Given the description of an element on the screen output the (x, y) to click on. 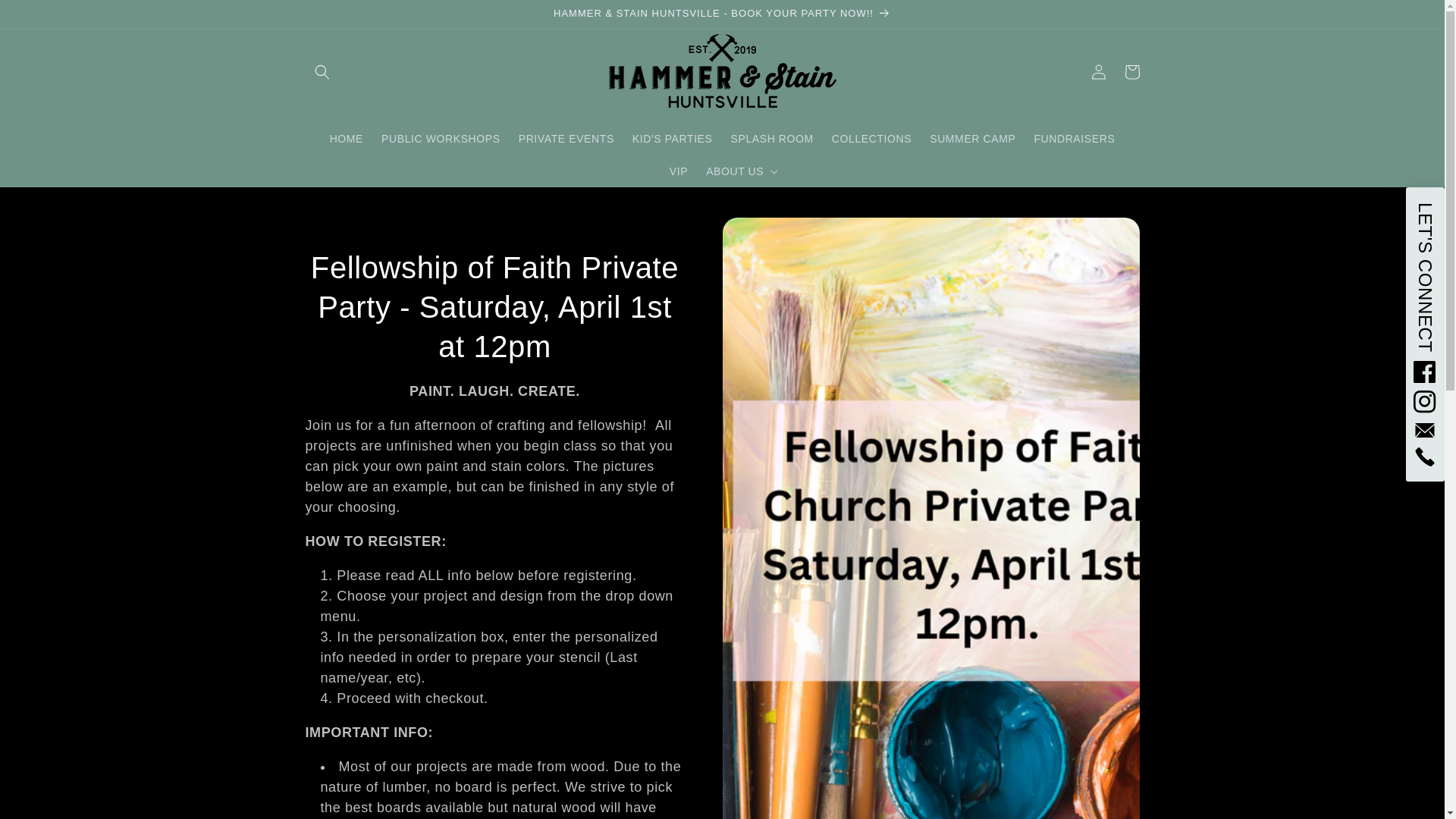
SUMMER CAMP (972, 138)
Skip to content (45, 17)
PUBLIC WORKSHOPS (440, 138)
COLLECTIONS (871, 138)
KID'S PARTIES (672, 138)
VIP (679, 171)
FUNDRAISERS (1074, 138)
phone (1425, 456)
email (1425, 429)
HOME (346, 138)
facebook (1425, 371)
PRIVATE EVENTS (566, 138)
instagram (1425, 401)
SPLASH ROOM (772, 138)
